Given the description of an element on the screen output the (x, y) to click on. 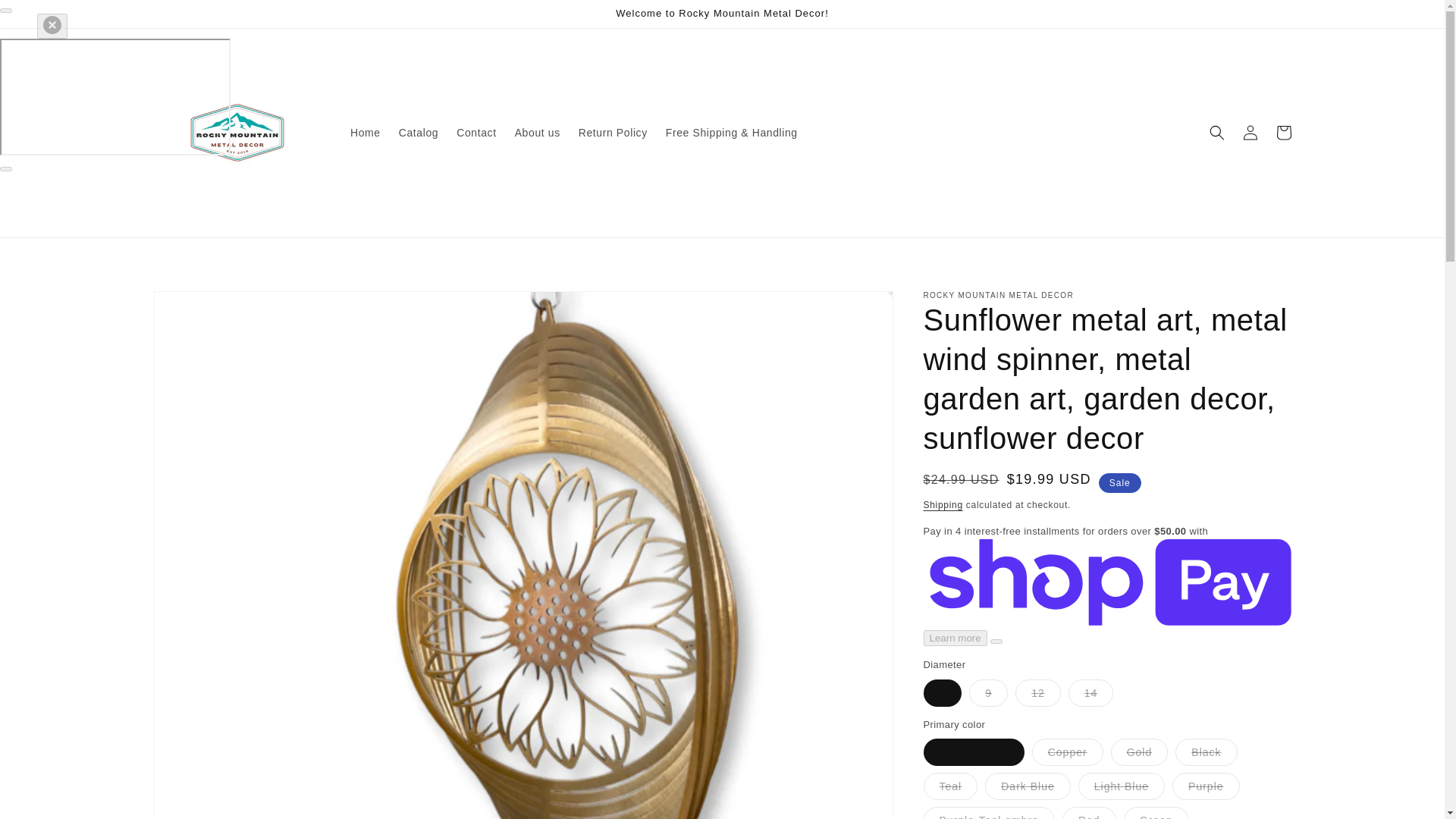
Cart (1283, 132)
Return Policy (612, 132)
Home (365, 132)
Contact (475, 132)
